Given the description of an element on the screen output the (x, y) to click on. 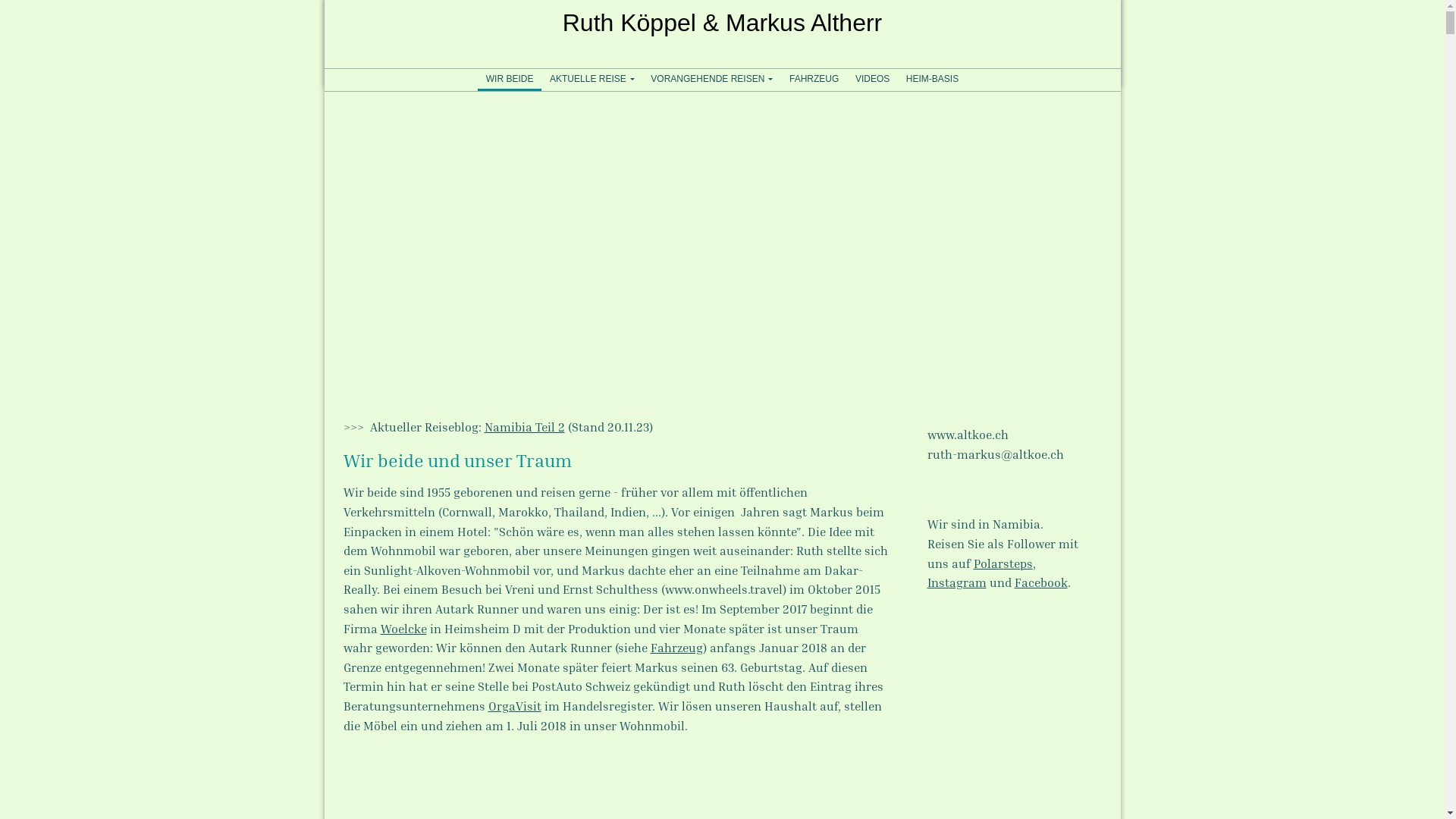
WIR BEIDE Element type: text (509, 78)
Namibia Teil 2 Element type: text (523, 426)
HEIM-BASIS Element type: text (931, 78)
Instagram Element type: text (955, 581)
Polarsteps Element type: text (1002, 563)
VORANGEHENDE REISEN Element type: text (712, 78)
Woelcke Element type: text (403, 628)
FAHRZEUG Element type: text (814, 78)
OrgaVisit Element type: text (514, 705)
VIDEOS Element type: text (872, 78)
Facebook Element type: text (1040, 581)
AKTUELLE REISE Element type: text (591, 78)
Fahrzeug Element type: text (676, 647)
